Given the description of an element on the screen output the (x, y) to click on. 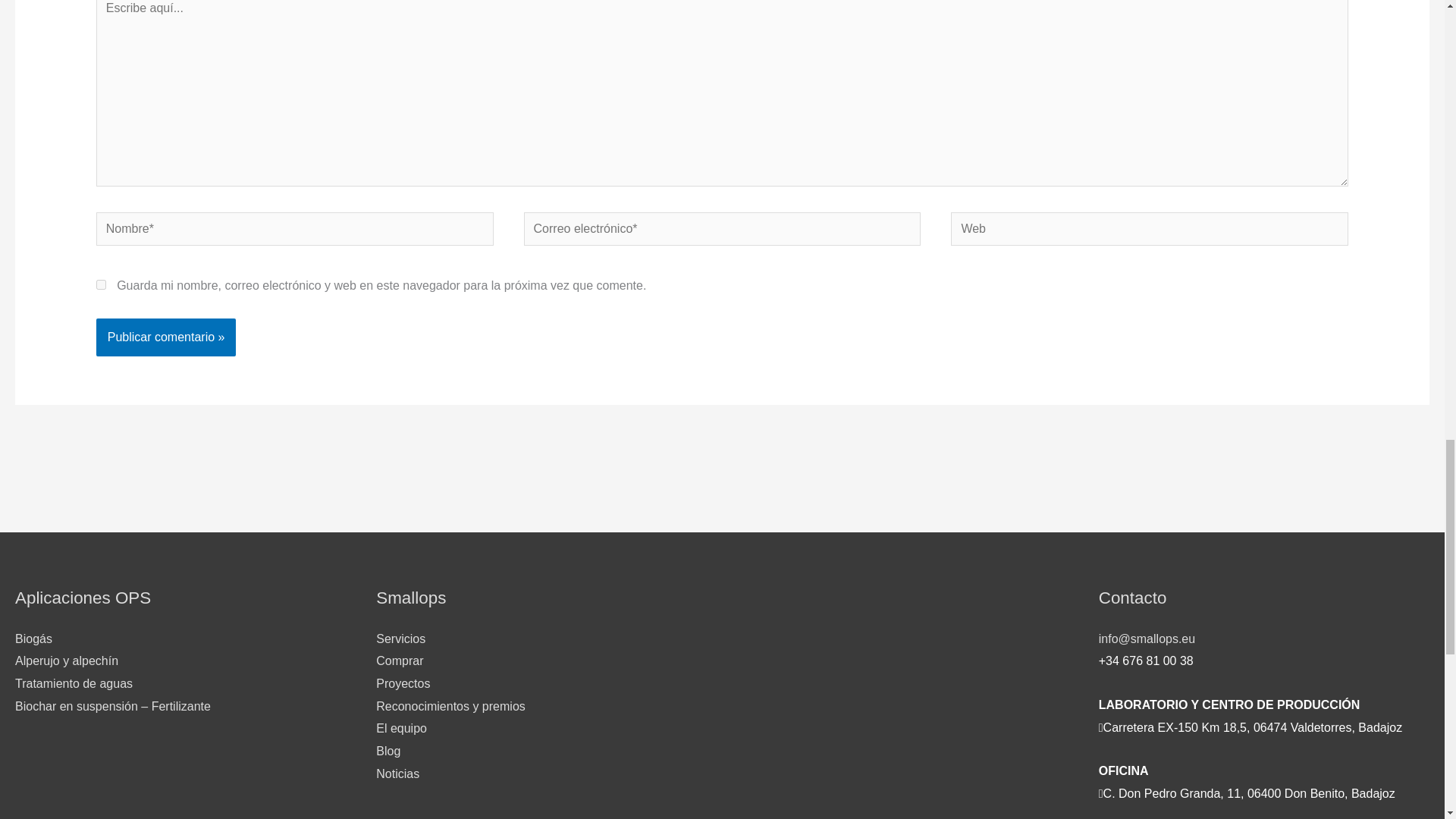
yes (101, 284)
